Given the description of an element on the screen output the (x, y) to click on. 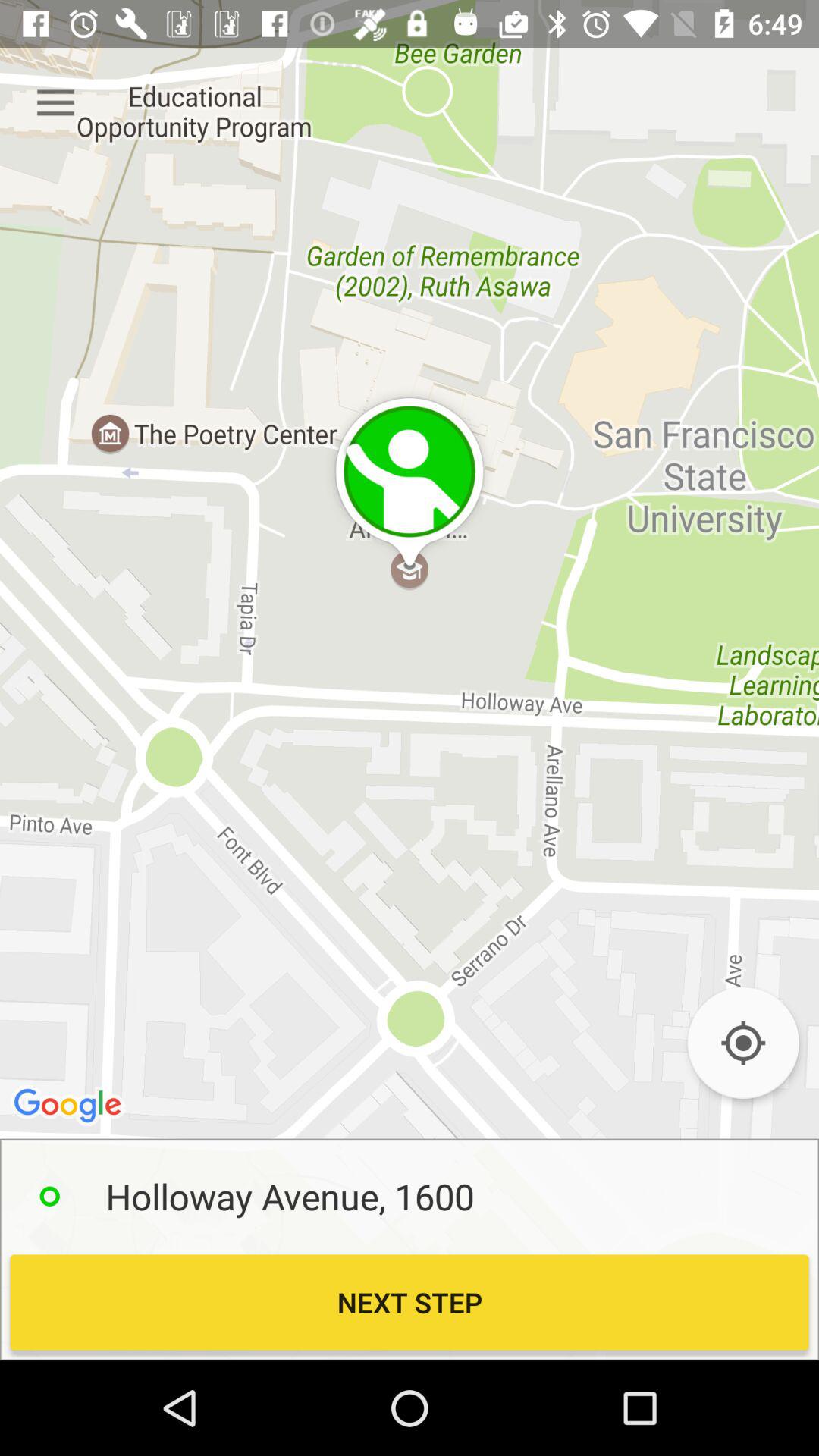
turn on icon at the bottom right corner (743, 1042)
